Given the description of an element on the screen output the (x, y) to click on. 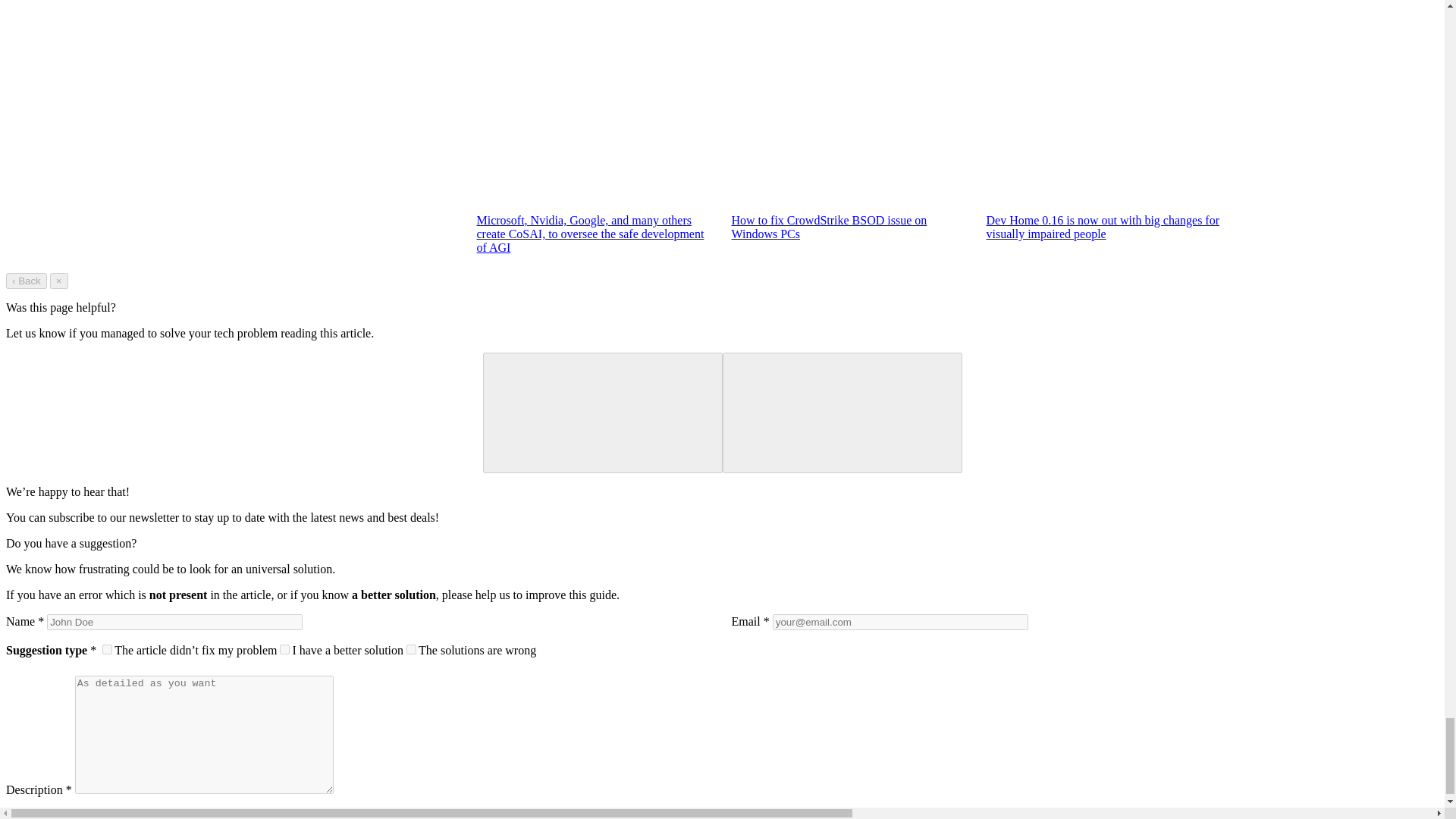
The solutions are wrong (411, 649)
I have a better solution (284, 649)
